Given the description of an element on the screen output the (x, y) to click on. 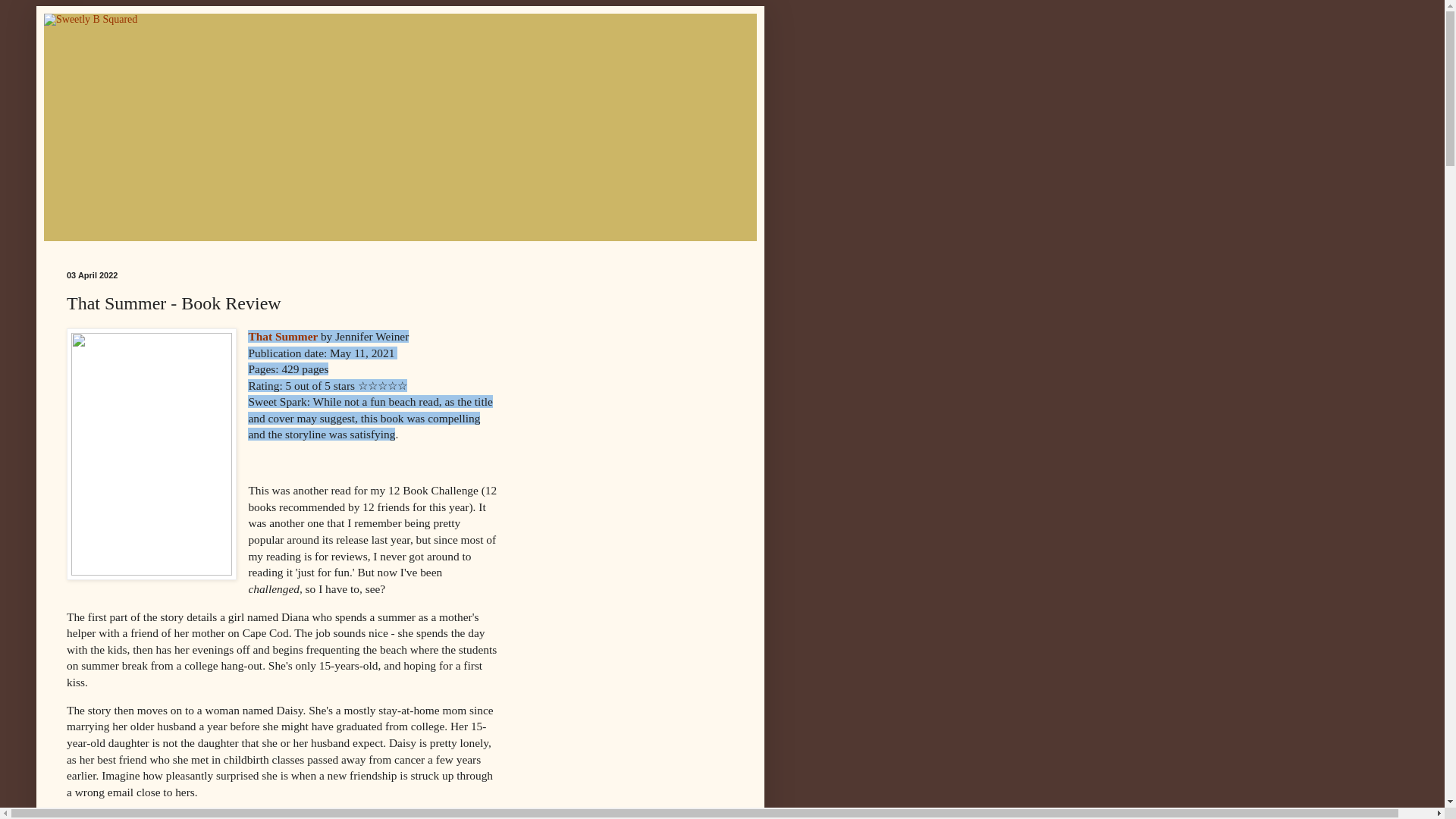
That Summer (283, 336)
